Given the description of an element on the screen output the (x, y) to click on. 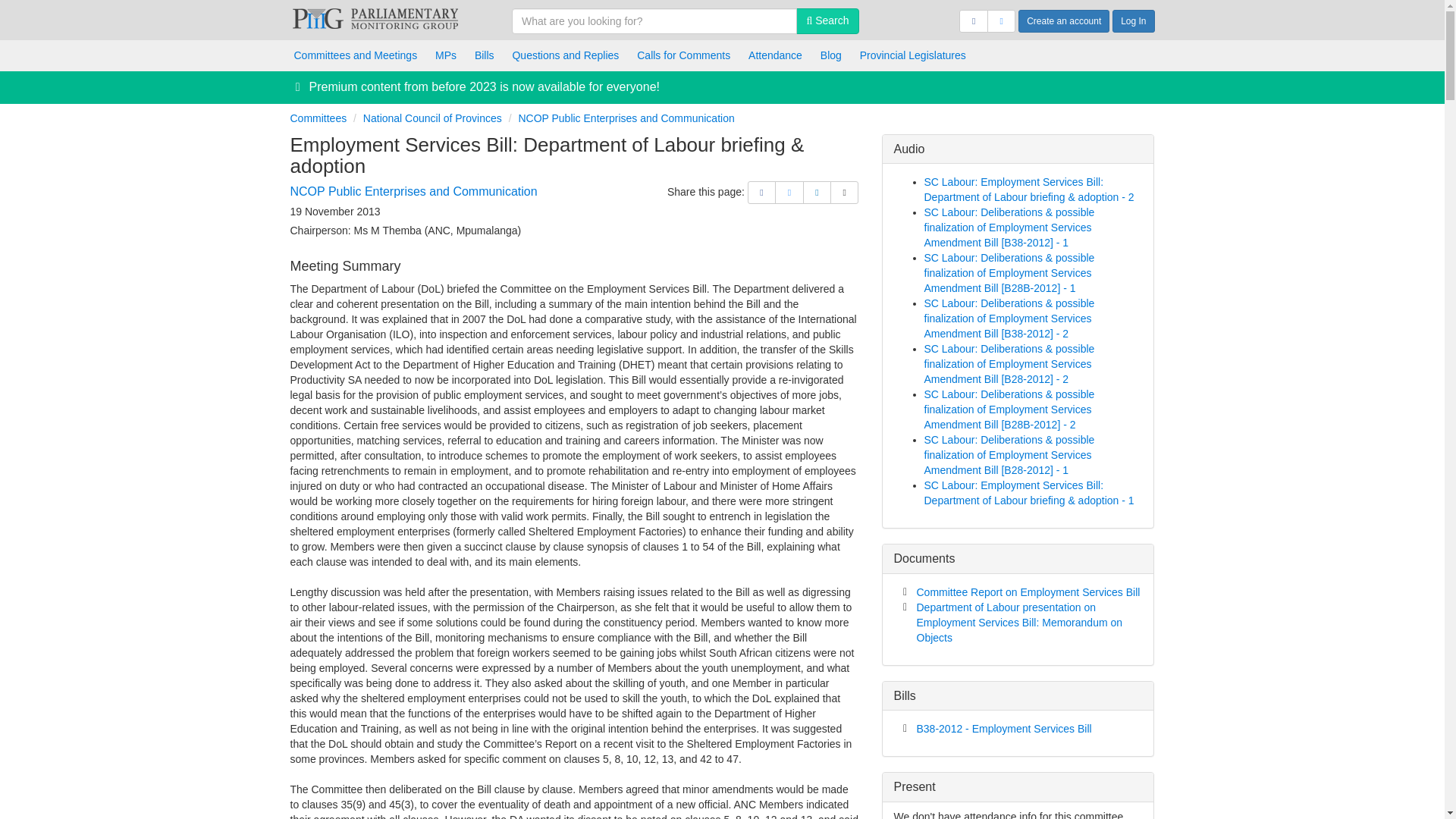
National Council of Provinces (432, 118)
Search (827, 21)
Committees (317, 118)
Bills (484, 55)
Provincial Legislatures (912, 55)
NCOP Public Enterprises and Communication (413, 191)
Committees and Meetings (355, 55)
Create an account (1063, 20)
Attendance (775, 55)
Questions and Replies (564, 55)
Blog (830, 55)
Log In (1133, 20)
MPs (446, 55)
Calls for Comments (683, 55)
